Given the description of an element on the screen output the (x, y) to click on. 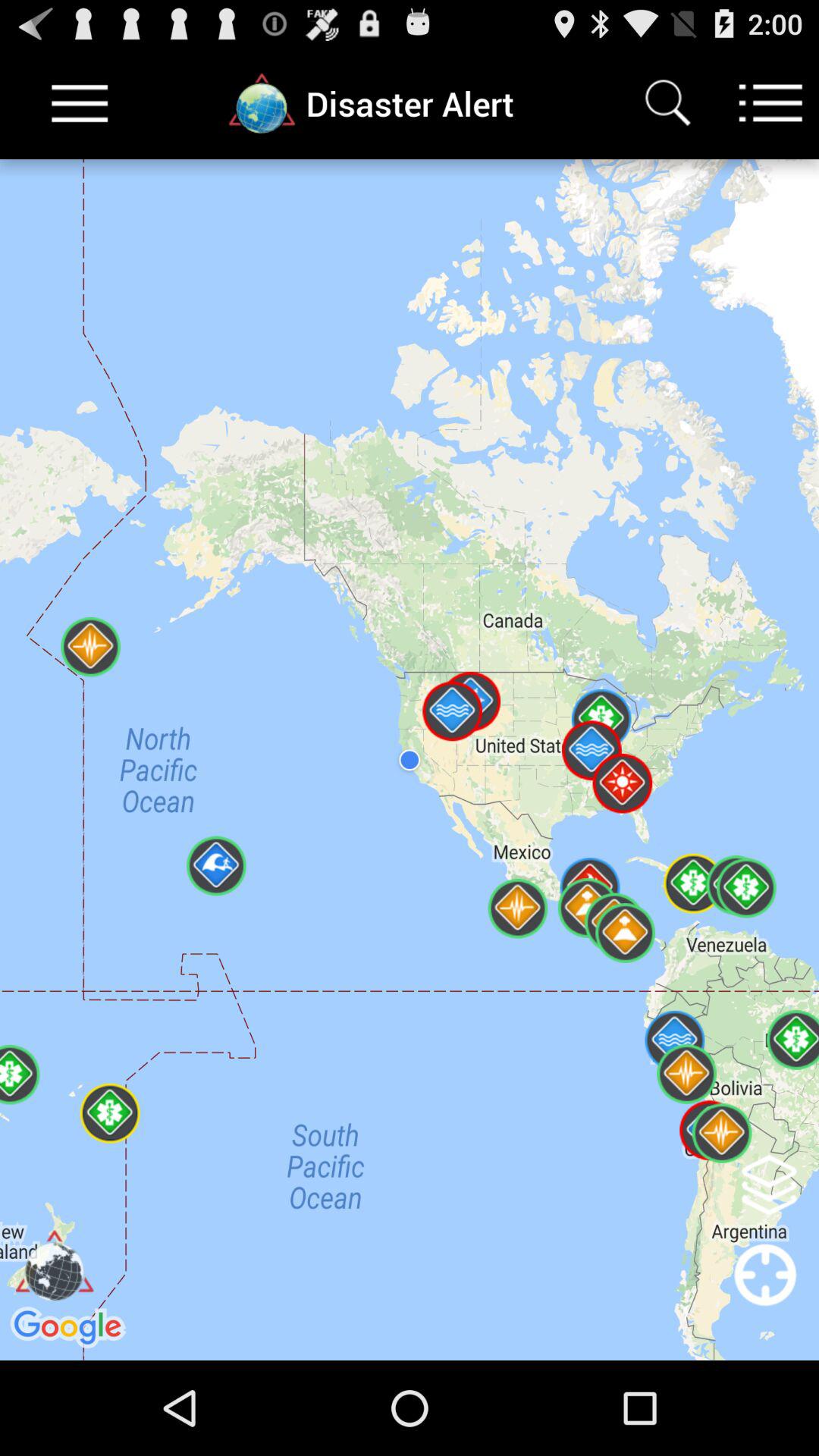
menu (770, 103)
